Given the description of an element on the screen output the (x, y) to click on. 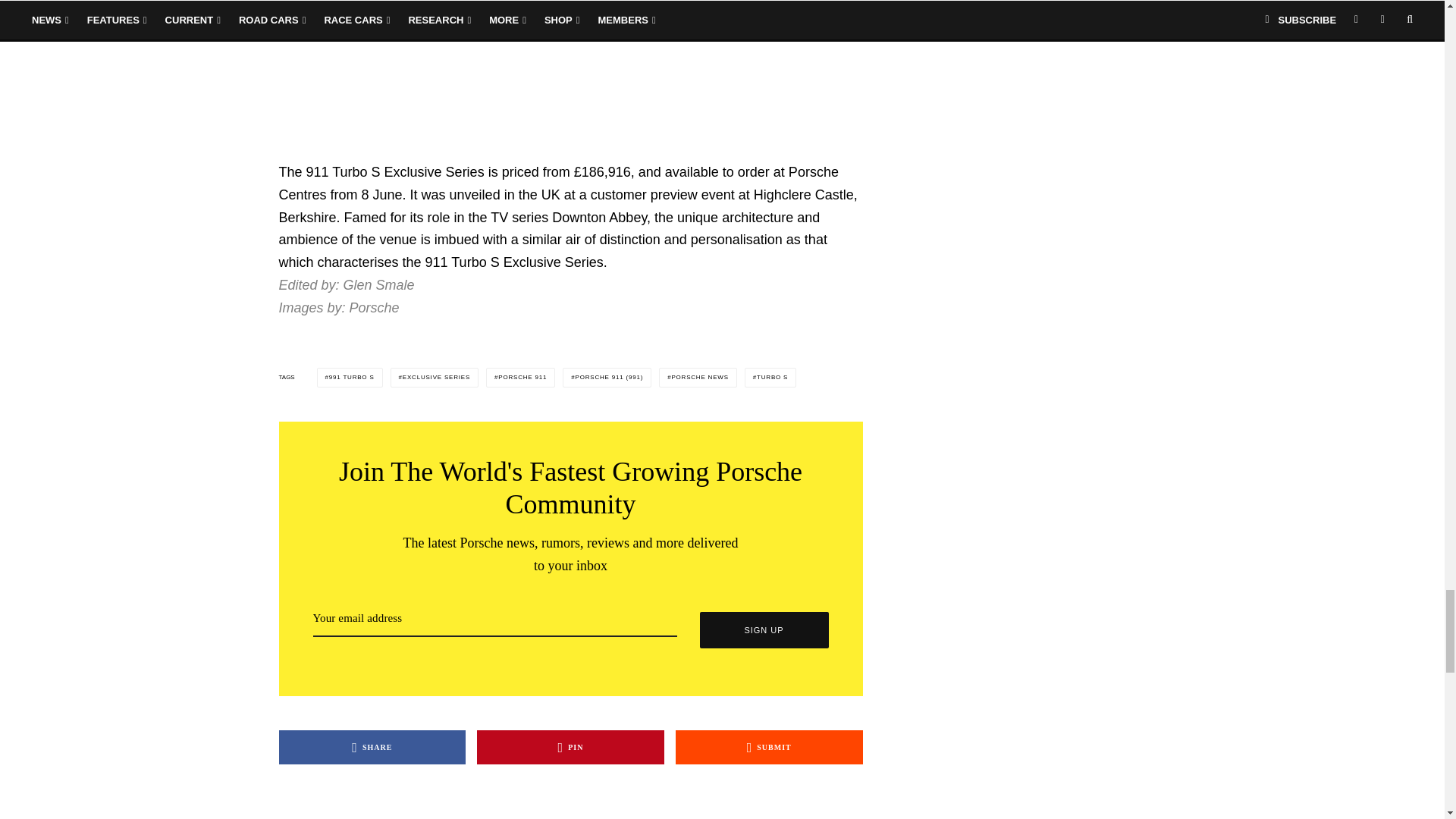
Sign up (763, 629)
